Given the description of an element on the screen output the (x, y) to click on. 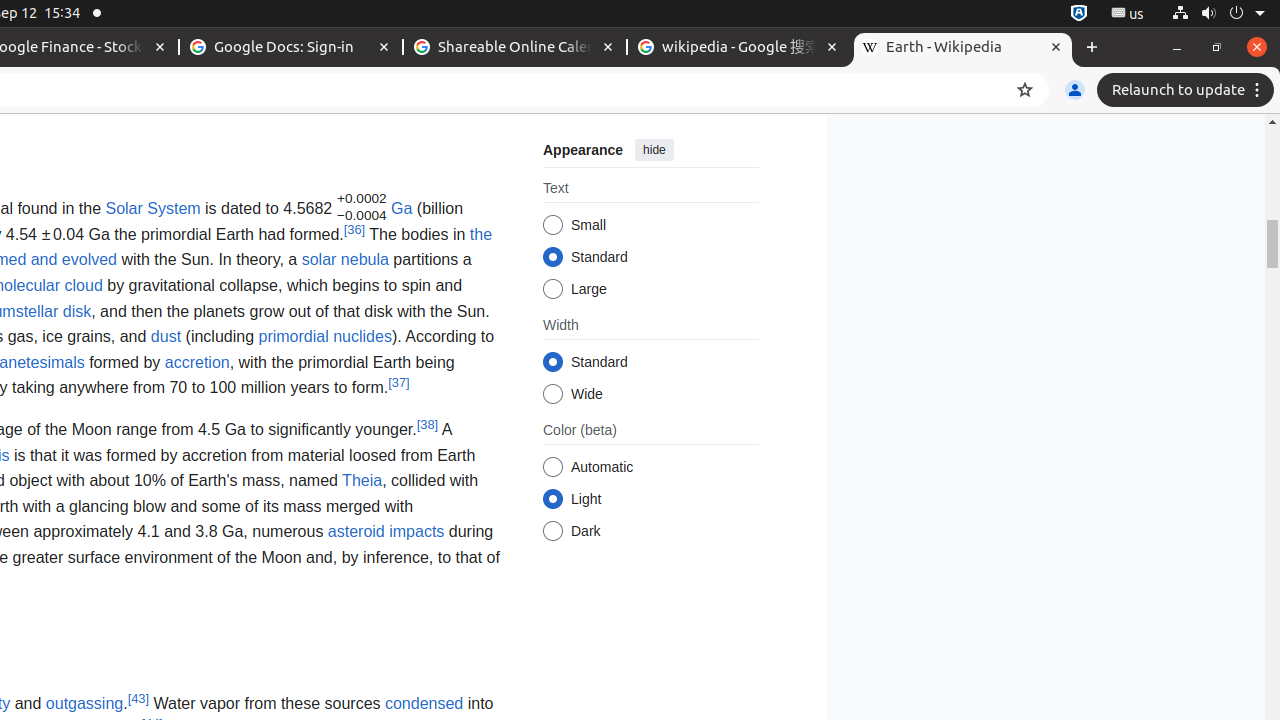
accretion Element type: link (197, 361)
System Element type: menu (1218, 13)
Small Element type: radio-button (552, 225)
Wide Element type: radio-button (552, 394)
Automatic Element type: radio-button (552, 467)
